Given the description of an element on the screen output the (x, y) to click on. 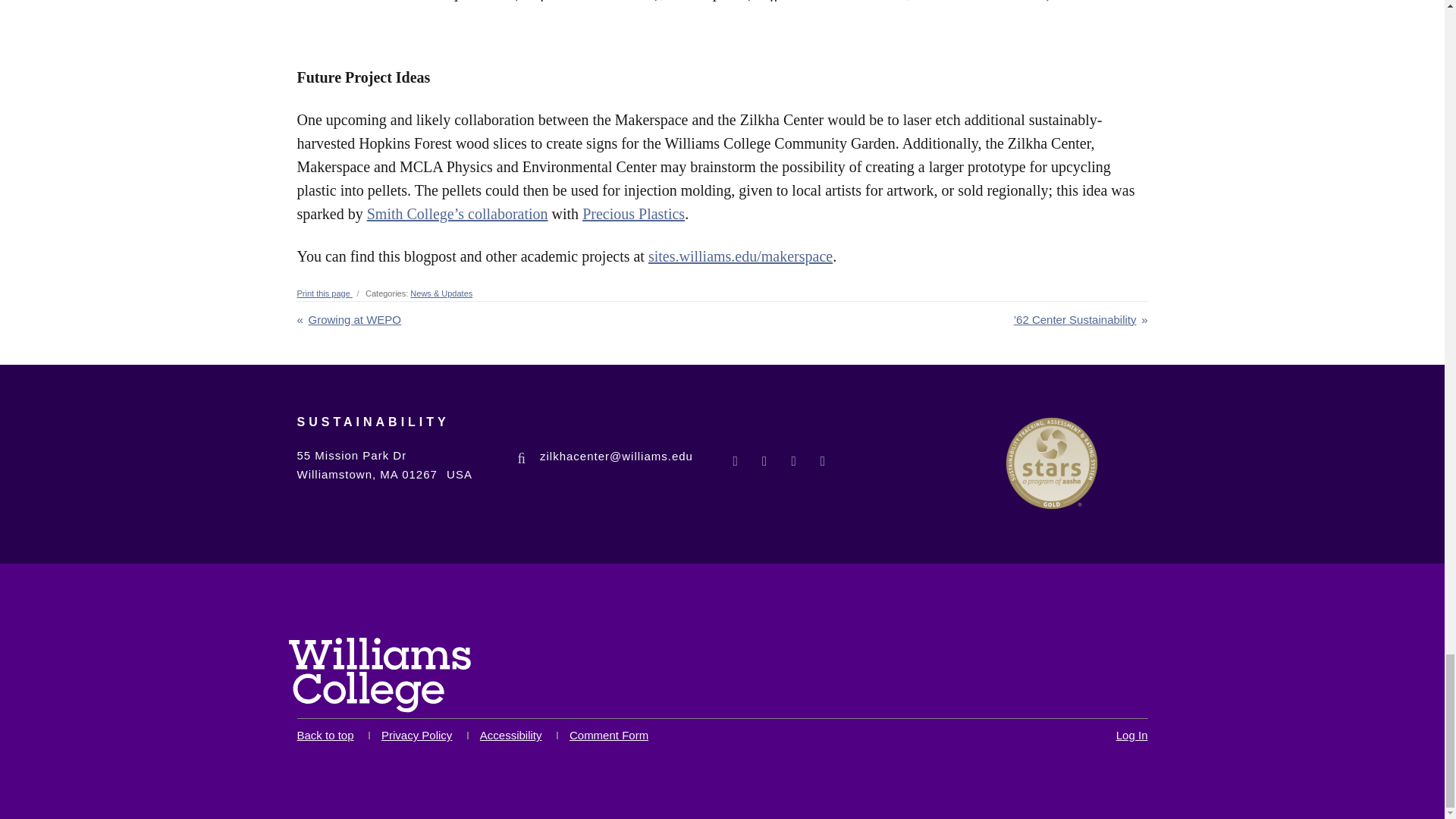
Williams College (379, 675)
